Given the description of an element on the screen output the (x, y) to click on. 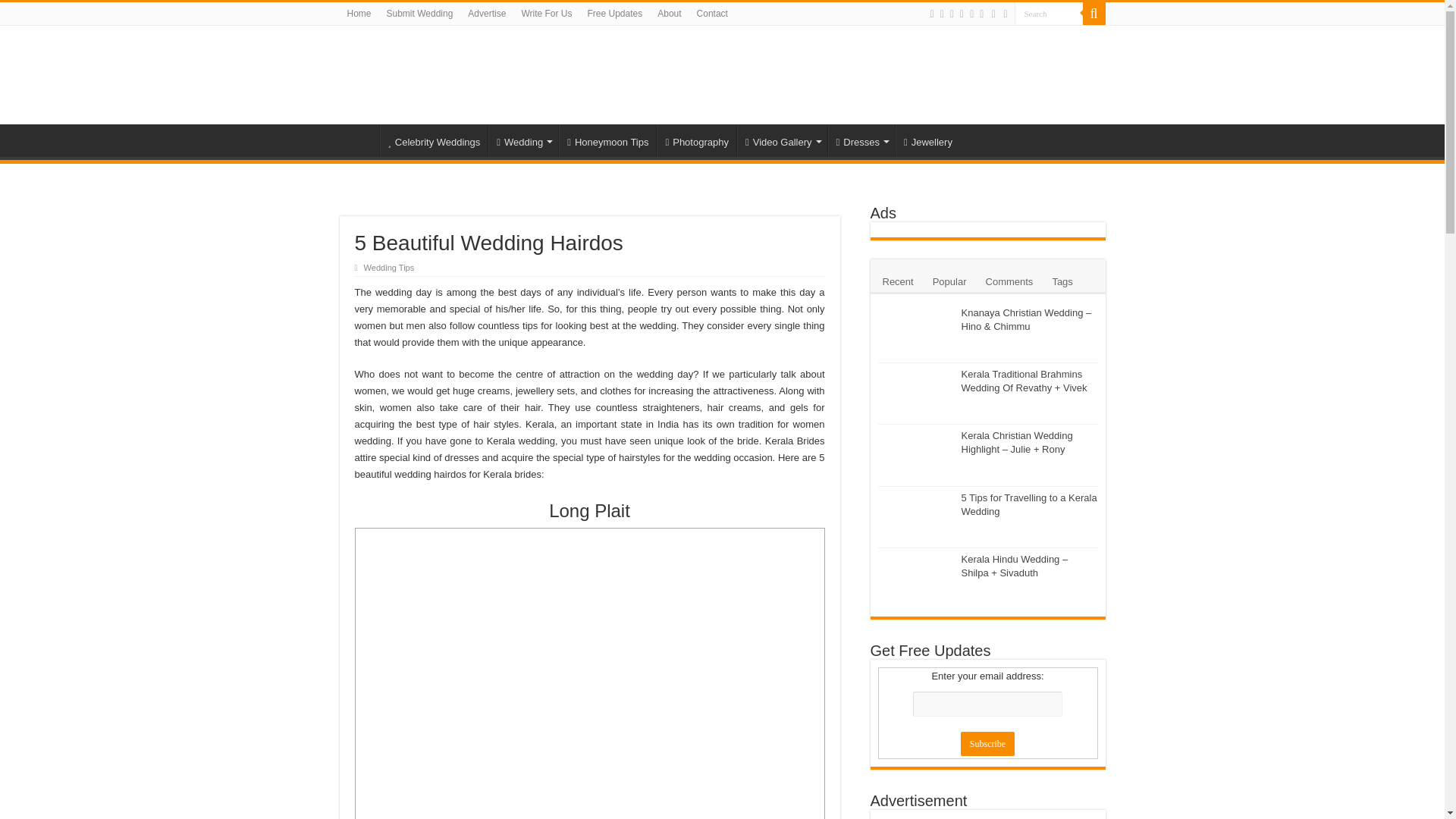
Submit Wedding (419, 13)
Subscribe (987, 743)
Search (1048, 13)
Home (358, 140)
Video Gallery (781, 140)
About (668, 13)
Wedding (522, 140)
Home (358, 13)
Photography (695, 140)
Honeymoon Tips (607, 140)
